Given the description of an element on the screen output the (x, y) to click on. 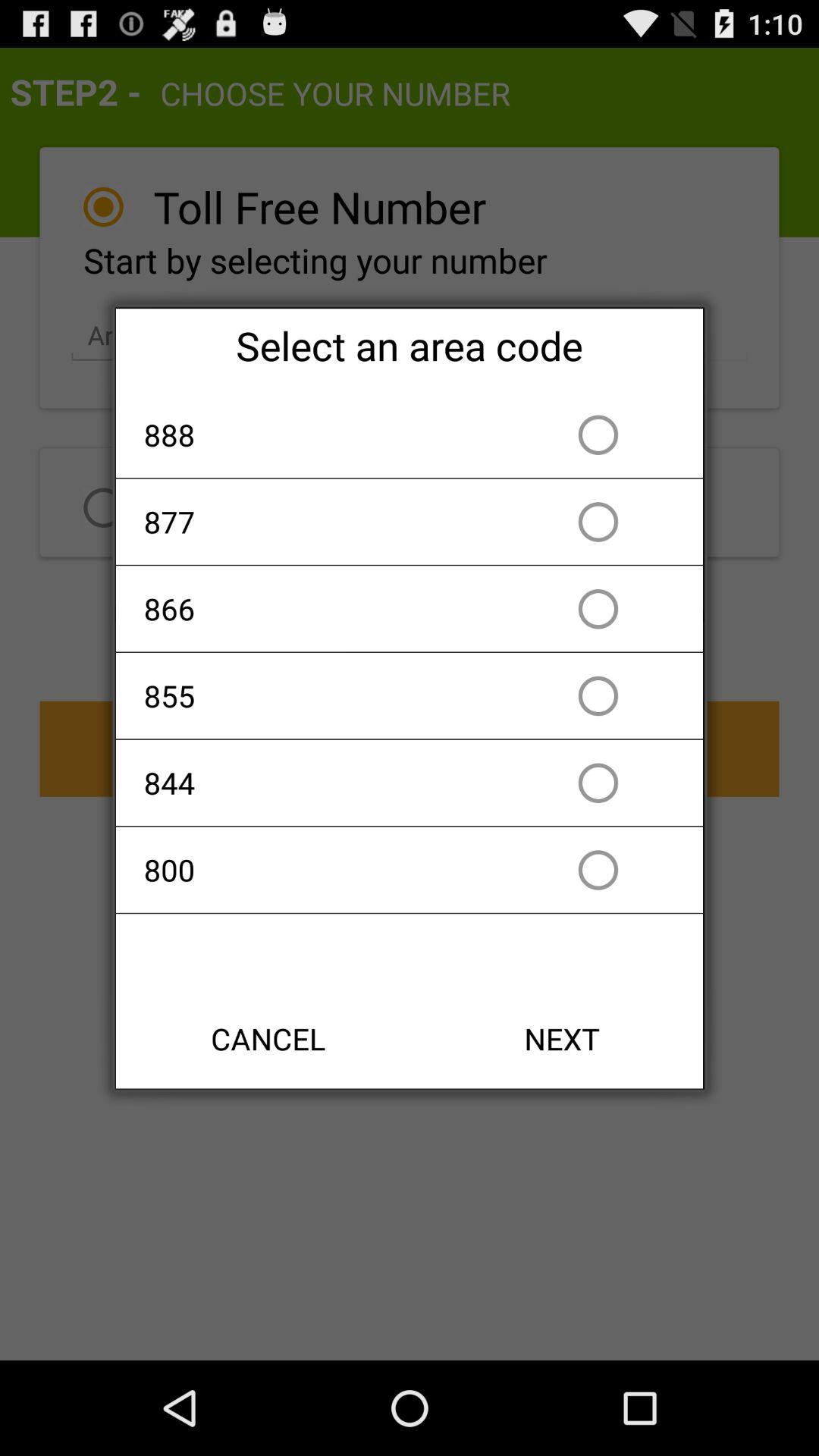
scroll to cancel button (268, 1038)
